Given the description of an element on the screen output the (x, y) to click on. 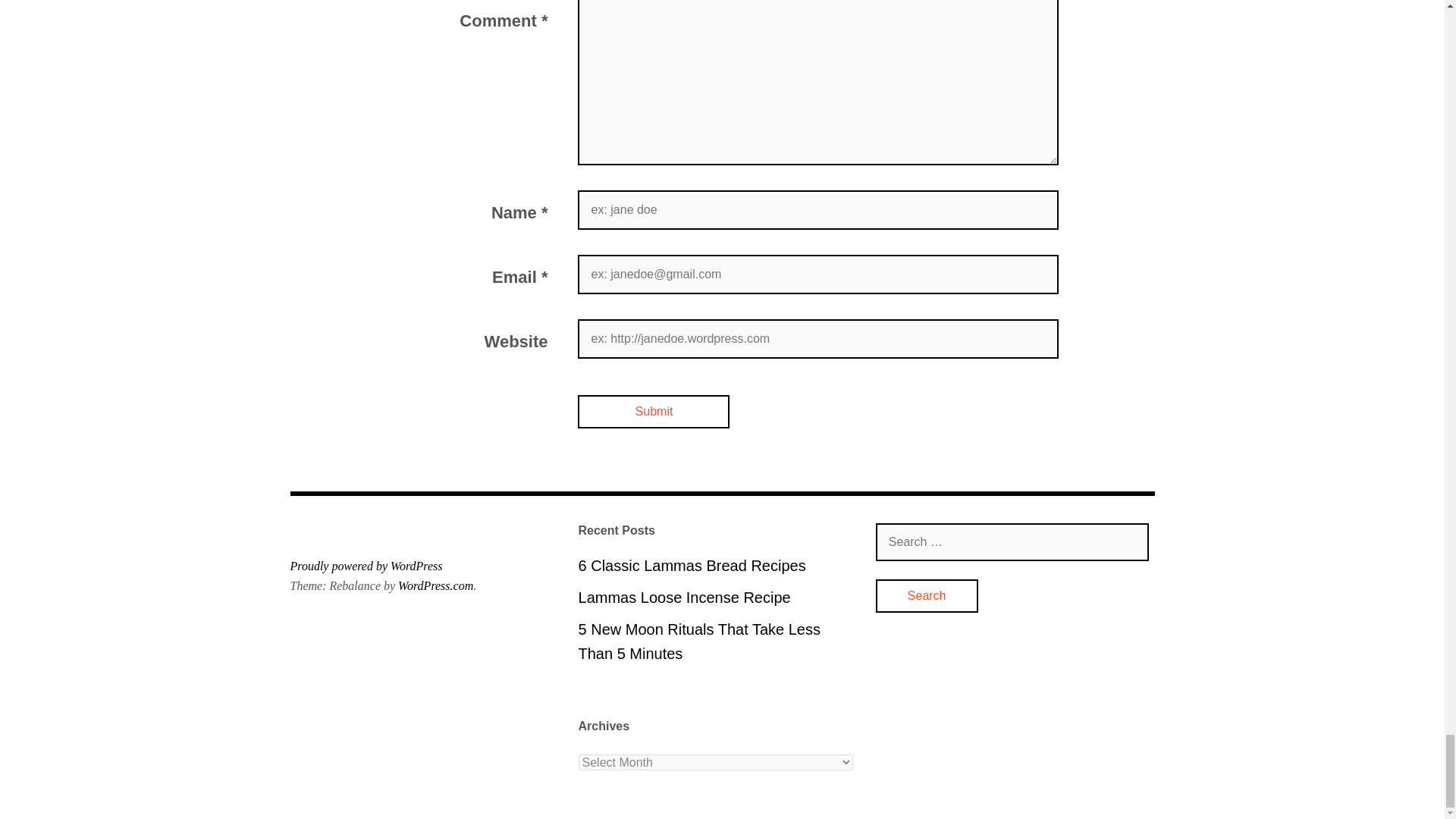
Search (927, 595)
Search (927, 595)
Submit (653, 411)
